Given the description of an element on the screen output the (x, y) to click on. 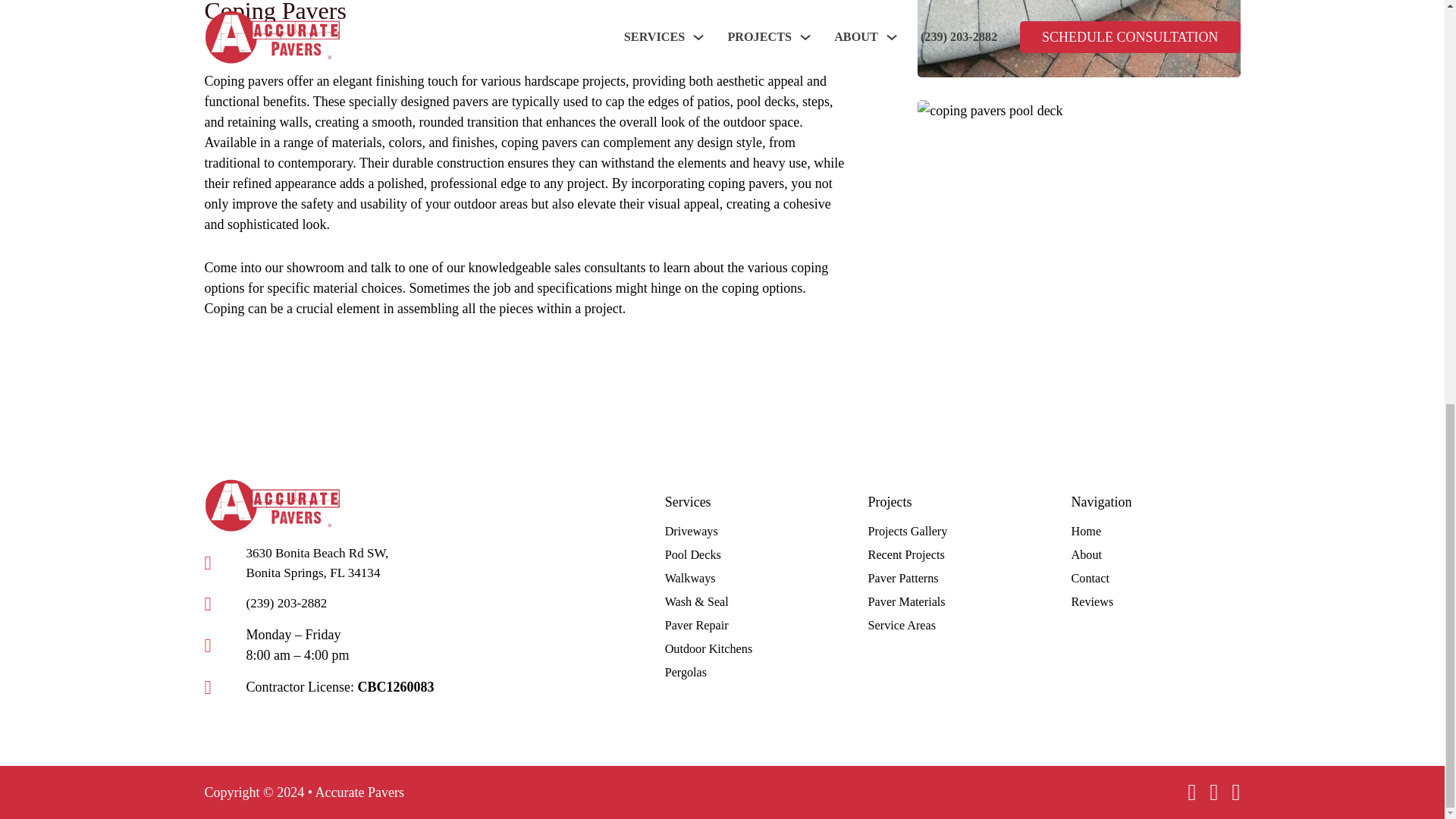
Pool Decks (692, 555)
Outdoor Kitchens (708, 648)
Driveways (691, 531)
3630 Bonita Beach Rd SW, Bonita Springs, FL 34134 (326, 562)
Paver Repair (697, 625)
Walkways (690, 578)
